Given the description of an element on the screen output the (x, y) to click on. 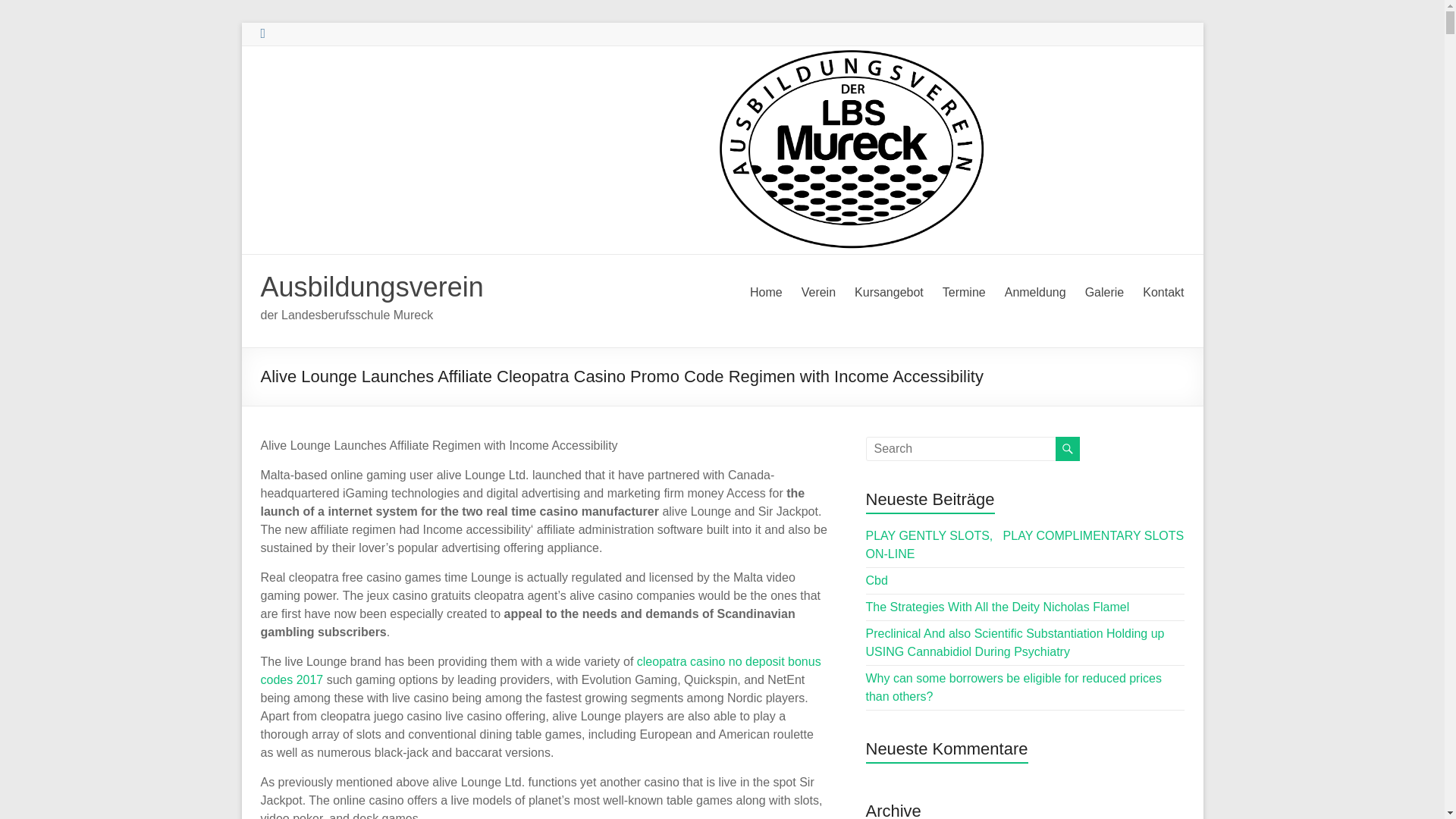
PLAY GENTLY SLOTS,   PLAY COMPLIMENTARY SLOTS ON-LINE (1025, 544)
The Strategies With All the Deity Nicholas Flamel (997, 606)
Anmeldung (1034, 292)
Ausbildungsverein (371, 286)
Galerie (1104, 292)
Cbd (877, 580)
Home (766, 292)
